Given the description of an element on the screen output the (x, y) to click on. 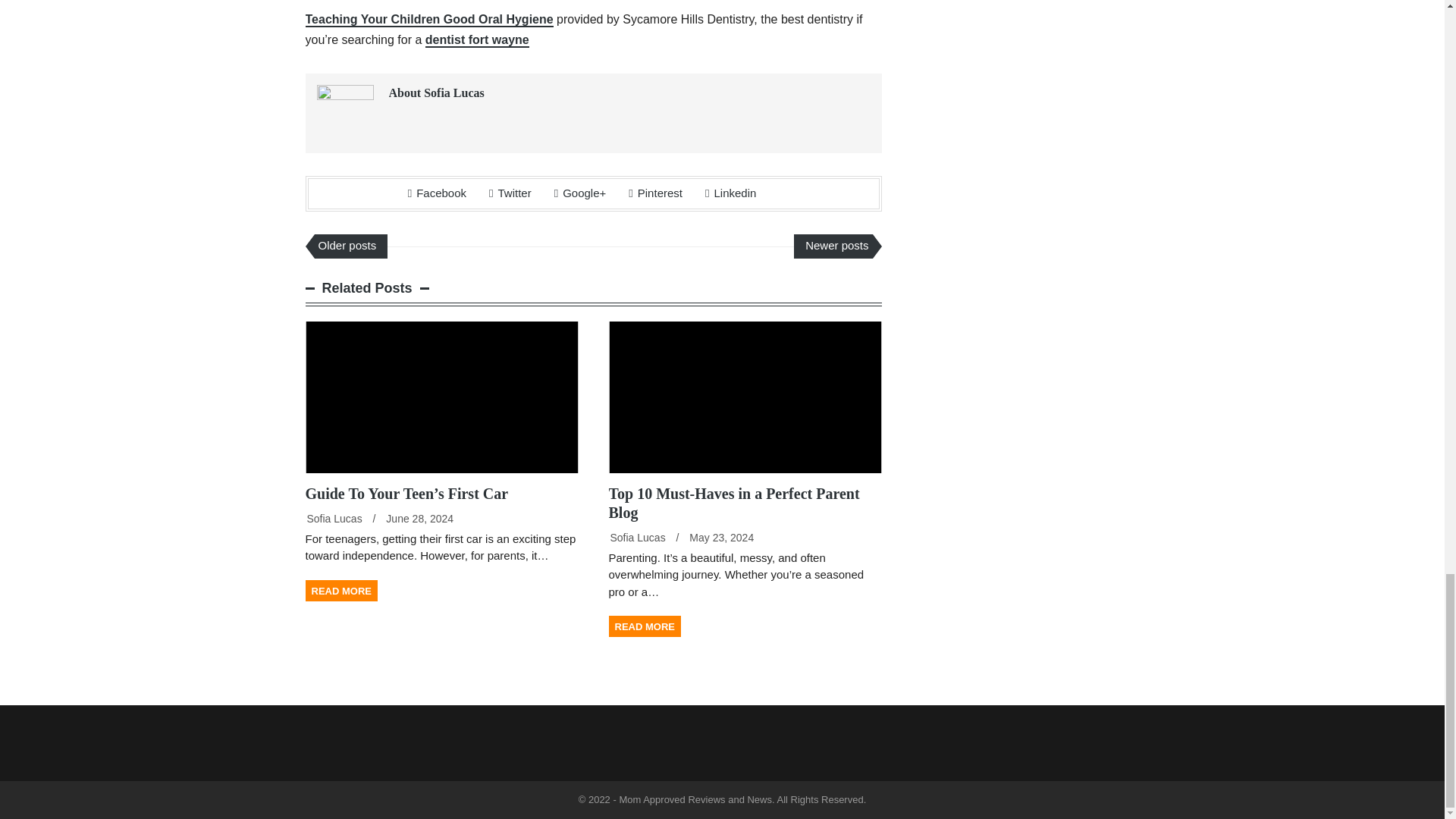
Posts by Sofia Lucas (333, 518)
Older posts (350, 246)
Newer posts (832, 246)
READ MORE (340, 590)
Pinterest (655, 192)
Linkedin (729, 192)
Twitter (510, 192)
dentist fort wayne (477, 40)
Teaching Your Children Good Oral Hygiene (428, 20)
Facebook (436, 192)
Top 10 Must-Haves in a Perfect Parent Blog (733, 502)
Posts by Sofia Lucas (637, 537)
Sofia Lucas (637, 537)
Teaching Your Children Good Oral Hygiene (428, 20)
Sofia Lucas (333, 518)
